Given the description of an element on the screen output the (x, y) to click on. 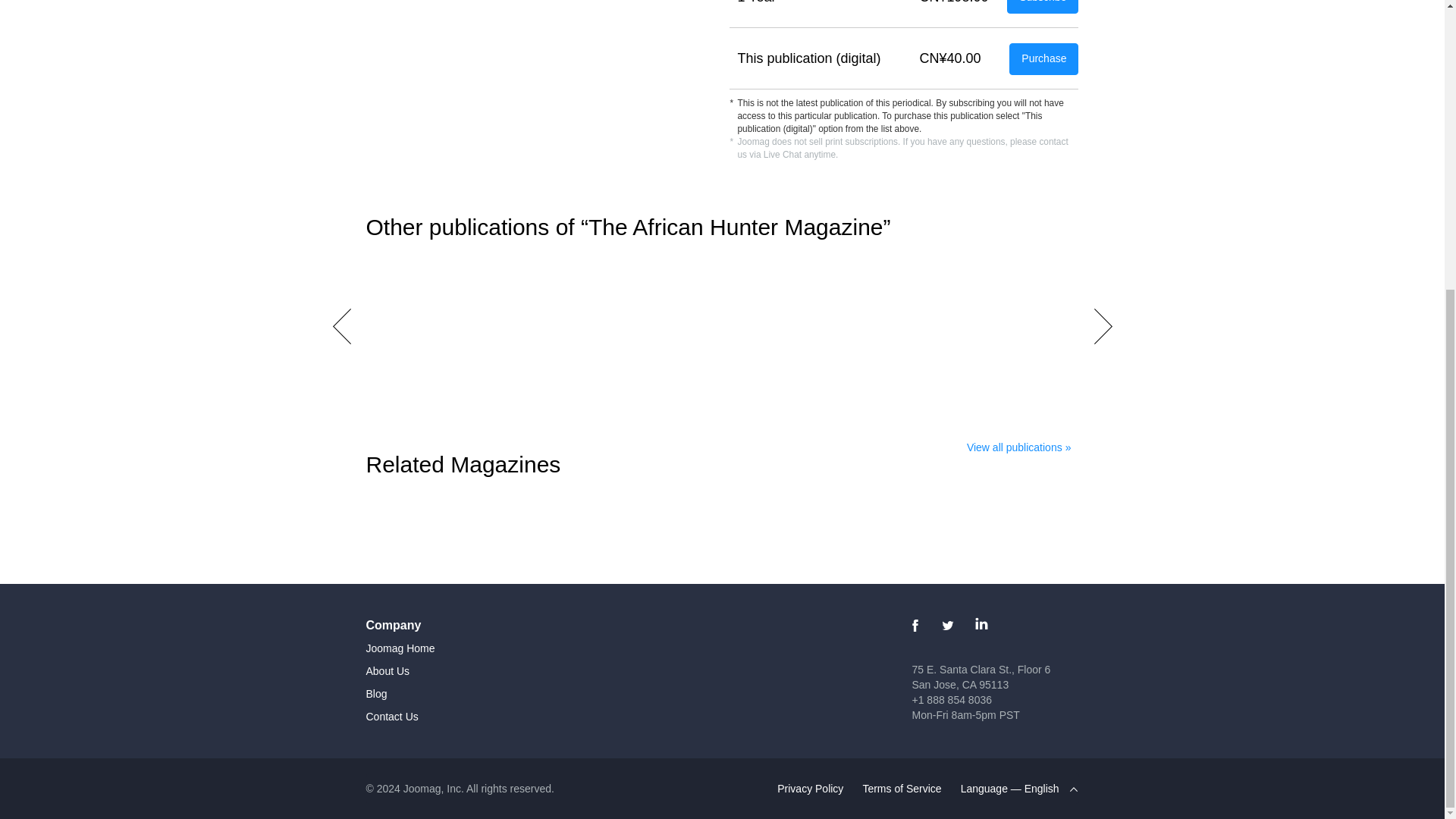
About Us (980, 677)
Subscribe (387, 671)
Contact Us (1042, 6)
Blog (391, 716)
Purchase (376, 693)
Terms of Service (1043, 59)
LinkedIn (901, 788)
Privacy Policy (980, 625)
View all publications (809, 788)
Twitter (1018, 447)
Facebook (947, 625)
Joomag Home (914, 625)
